Given the description of an element on the screen output the (x, y) to click on. 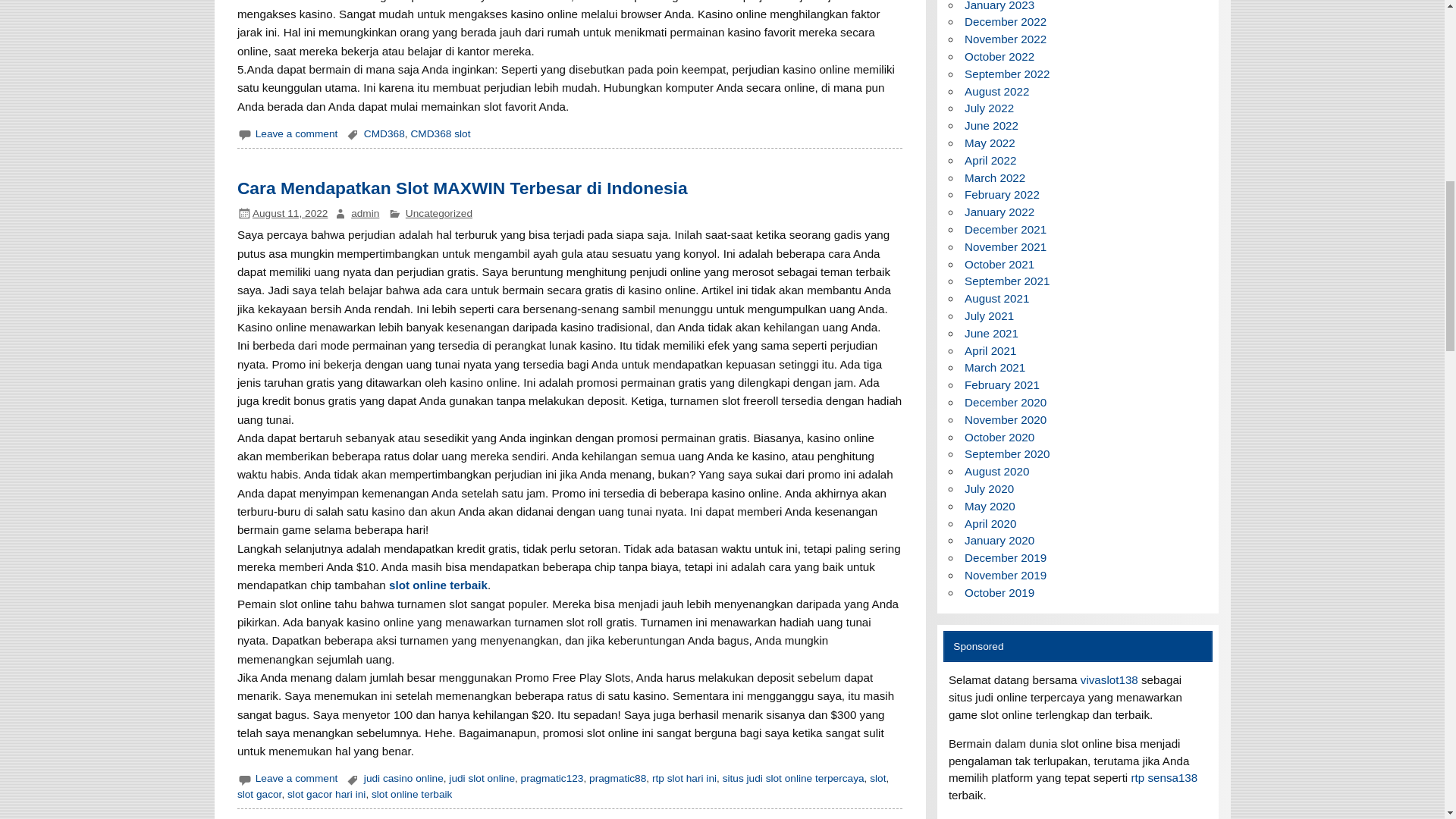
slot (877, 778)
slot gacor hari ini (325, 794)
Uncategorized (438, 213)
Leave a comment (296, 133)
slot online terbaik (411, 794)
pragmatic88 (617, 778)
judi slot online (481, 778)
CMD368 slot (440, 133)
slot gacor (259, 794)
August 11, 2022 (290, 213)
View all posts by admin (364, 213)
CMD368 (384, 133)
situs judi slot online terpercaya (793, 778)
Leave a comment (296, 778)
3:26 pm (290, 213)
